Given the description of an element on the screen output the (x, y) to click on. 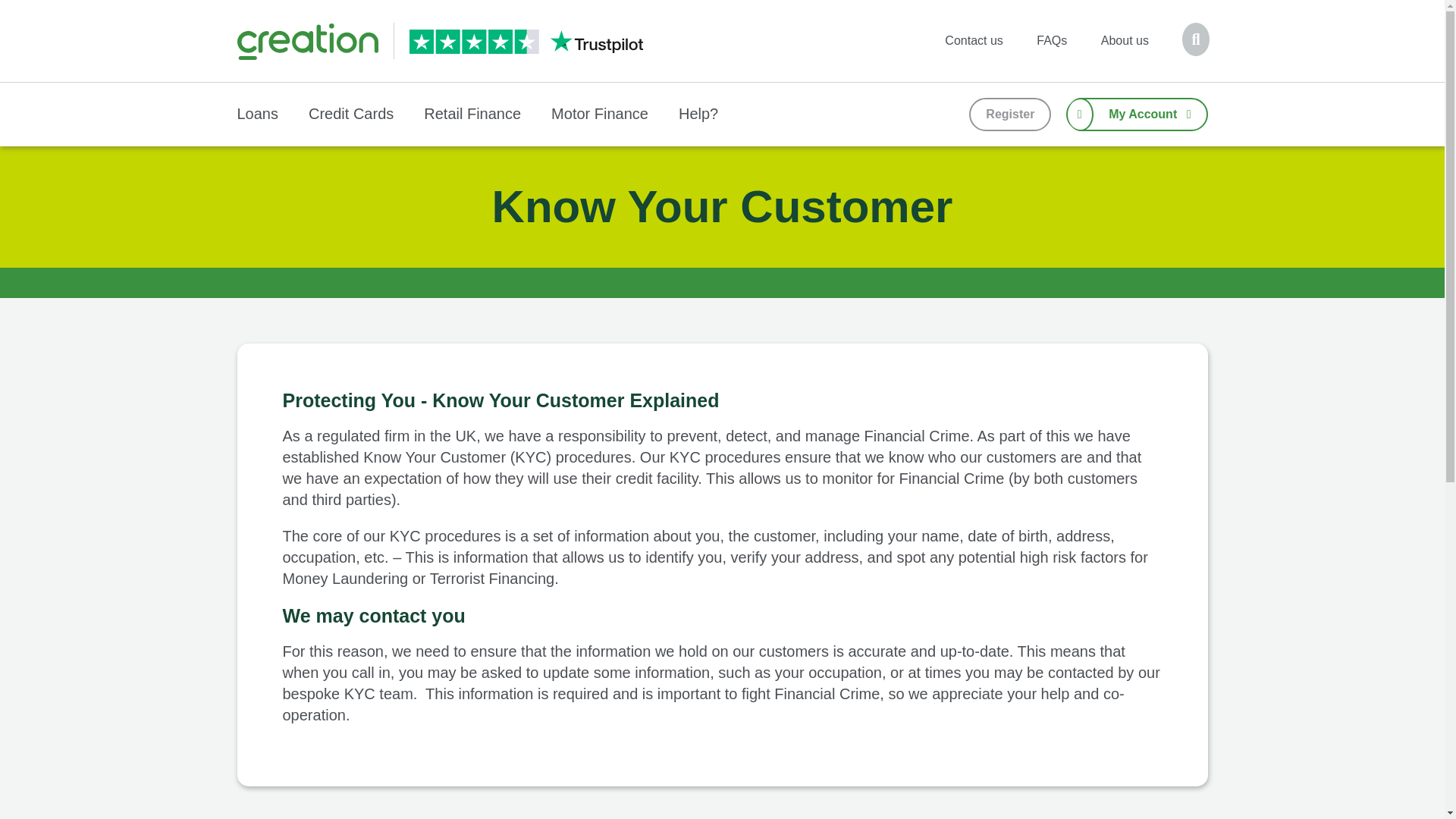
Register (1010, 114)
Retail Finance (472, 113)
FAQs (1051, 40)
Creation home (306, 40)
My Account (1136, 114)
About us (1124, 40)
Loans (256, 113)
Help? (697, 113)
Contact us (973, 40)
Credit Cards (350, 113)
Motor Finance (599, 113)
